Given the description of an element on the screen output the (x, y) to click on. 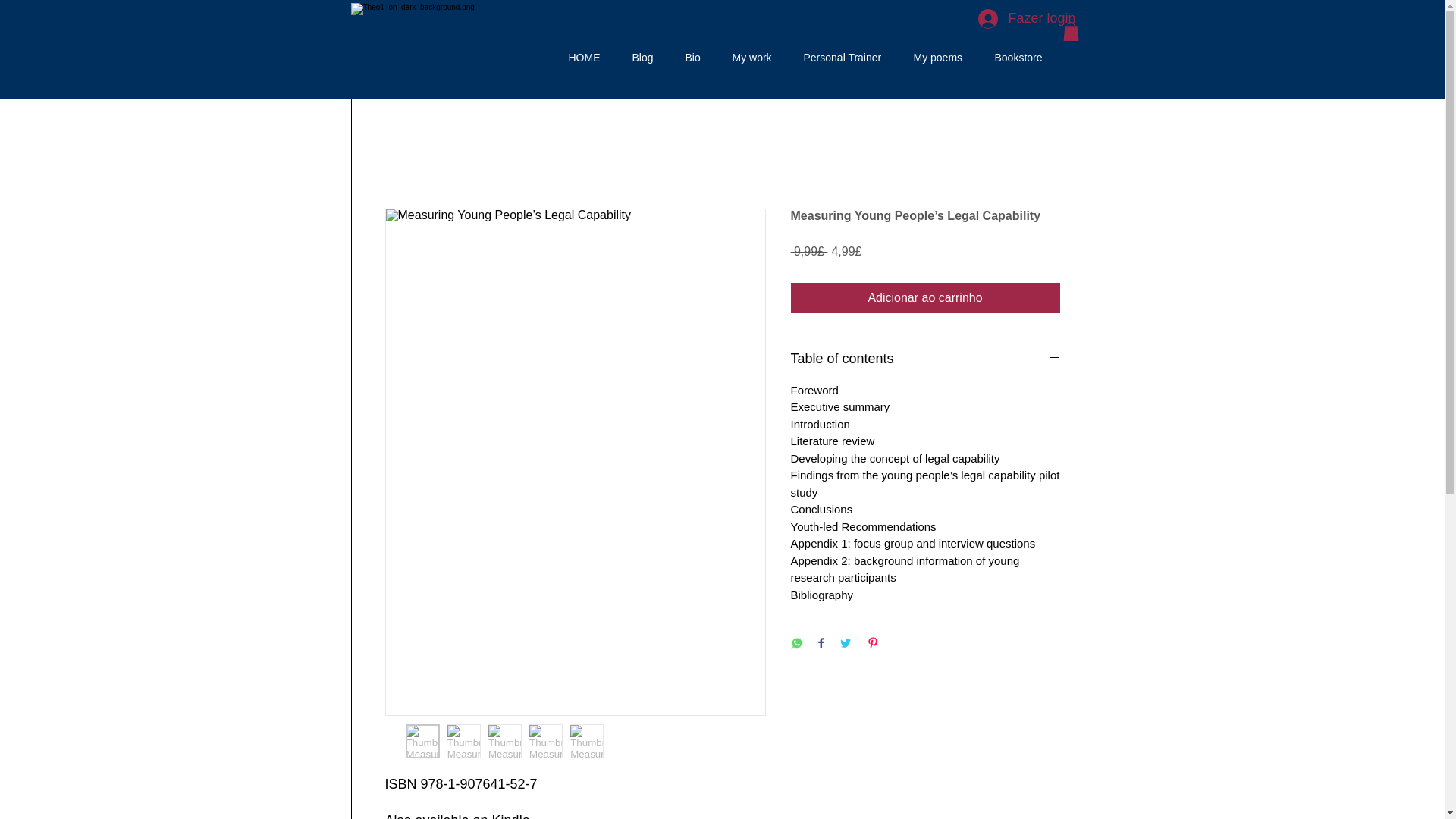
HOME (583, 57)
Bookstore (1018, 57)
My work (751, 57)
Blog (641, 57)
Adicionar ao carrinho (924, 297)
Table of contents (924, 358)
Personal Trainer (841, 57)
on Kindle (501, 816)
My poems (938, 57)
Bio (692, 57)
